Given the description of an element on the screen output the (x, y) to click on. 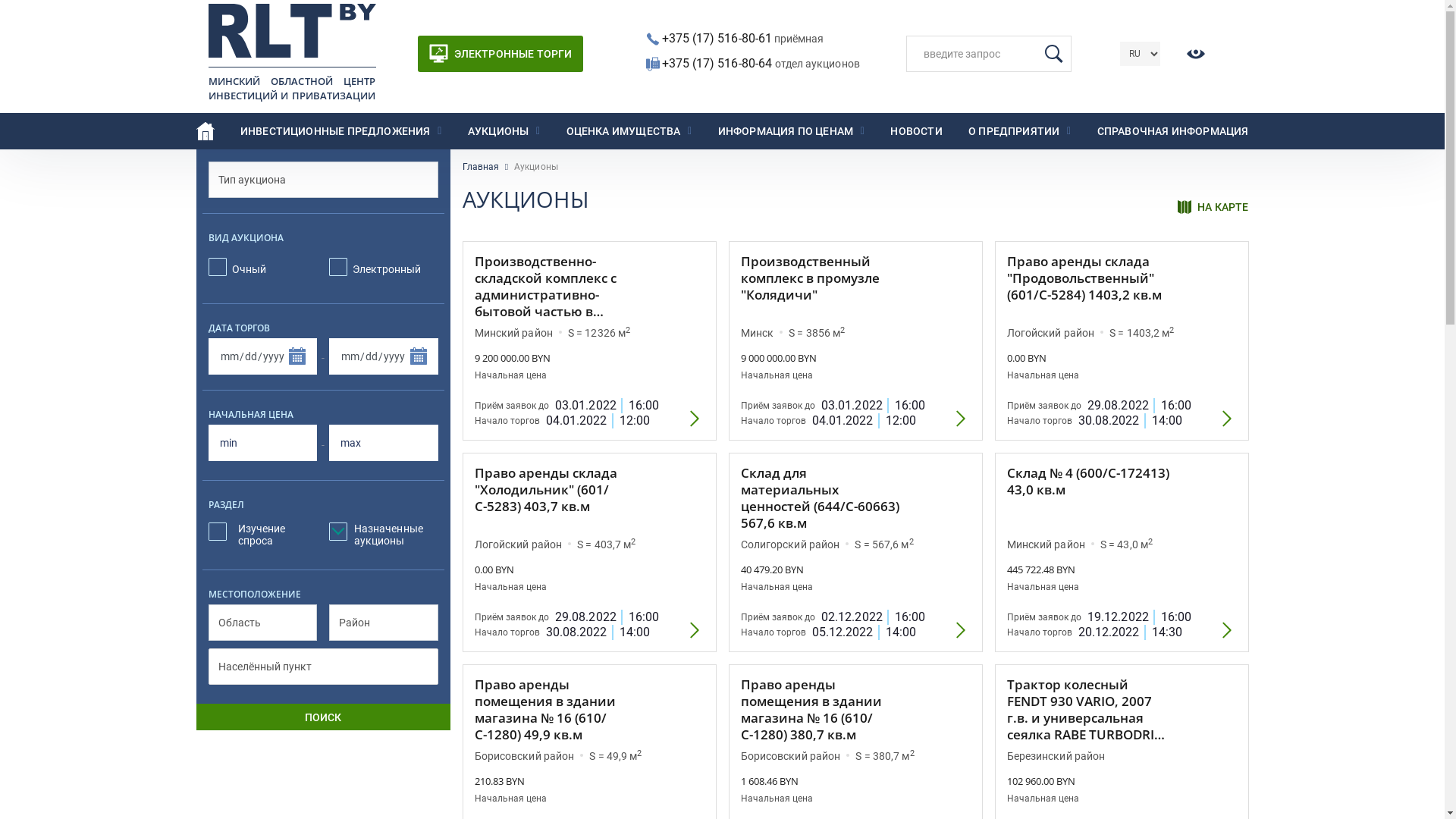
+375 (17) 516-80-61 Element type: text (716, 37)
+375 (17) 516-80-64 Element type: text (718, 63)
